Given the description of an element on the screen output the (x, y) to click on. 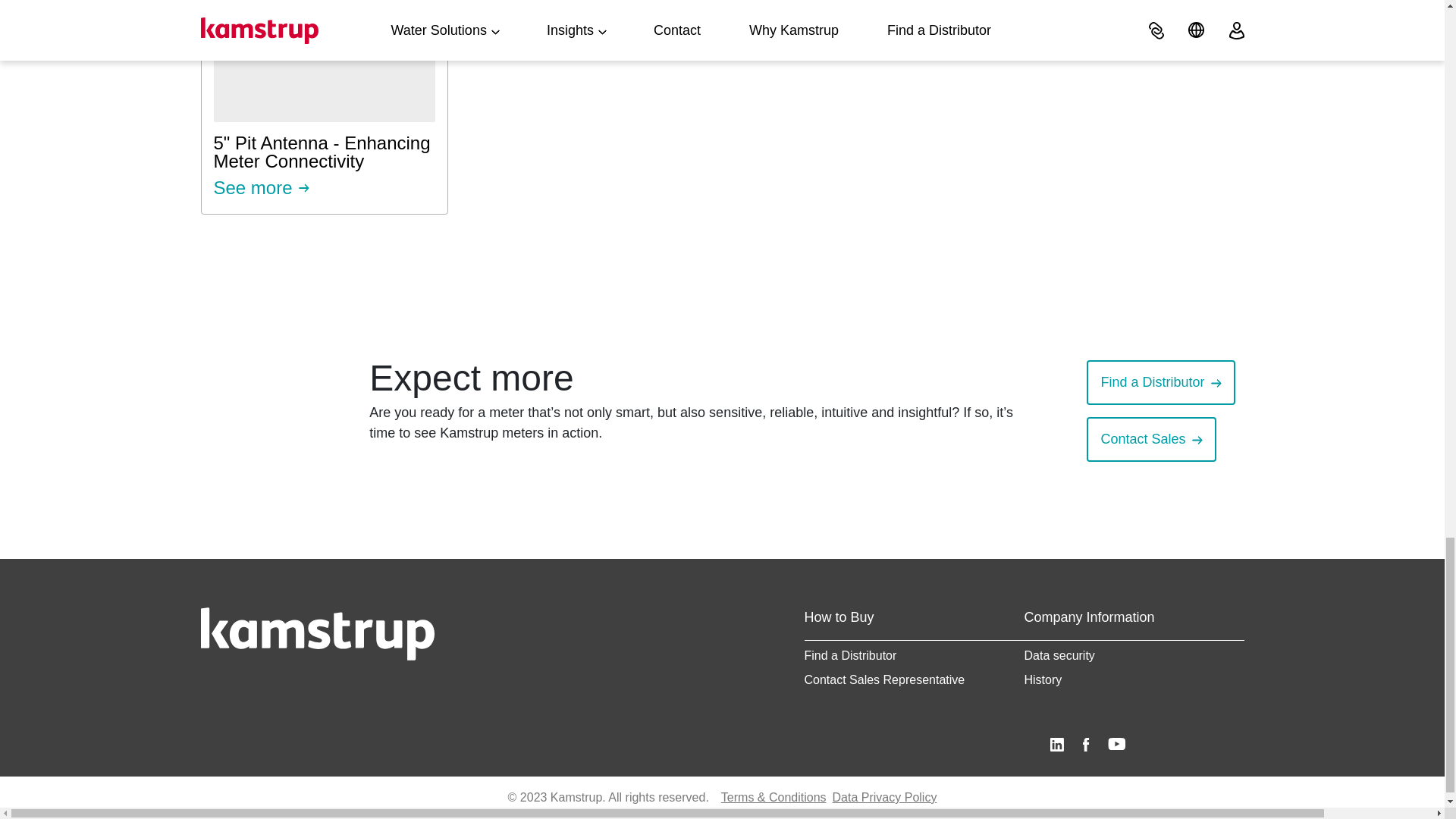
Contact Sales (1142, 439)
YouTube (1116, 744)
Data Privacy Policy (884, 797)
LinkedIn (323, 107)
Facebook (1056, 744)
Find a Distributor (1085, 744)
